Given the description of an element on the screen output the (x, y) to click on. 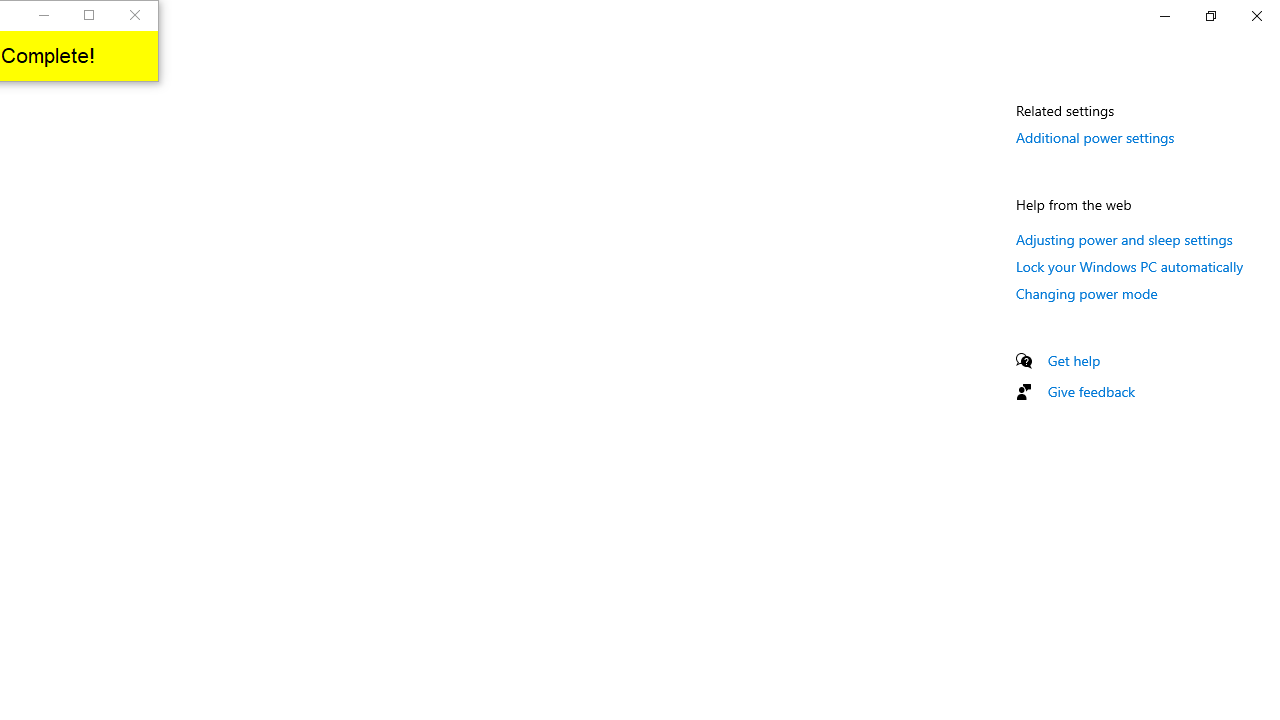
Get help (1074, 360)
Give feedback (1091, 391)
Lock your Windows PC automatically (1130, 266)
Close Settings (1256, 15)
Changing power mode (1087, 293)
Minimize Settings (1164, 15)
Adjusting power and sleep settings (1124, 239)
Restore Settings (1210, 15)
Additional power settings (1095, 137)
